Given the description of an element on the screen output the (x, y) to click on. 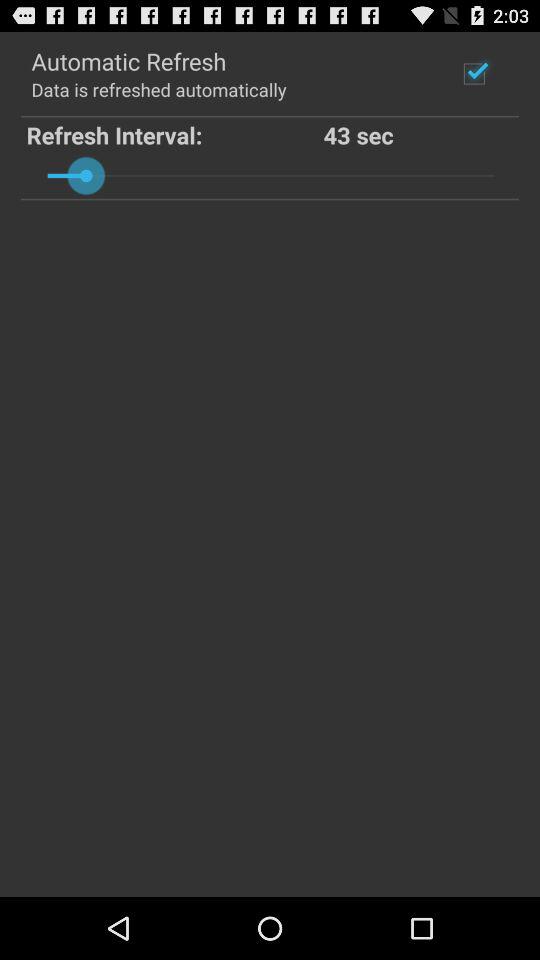
open the data is refreshed app (158, 88)
